Given the description of an element on the screen output the (x, y) to click on. 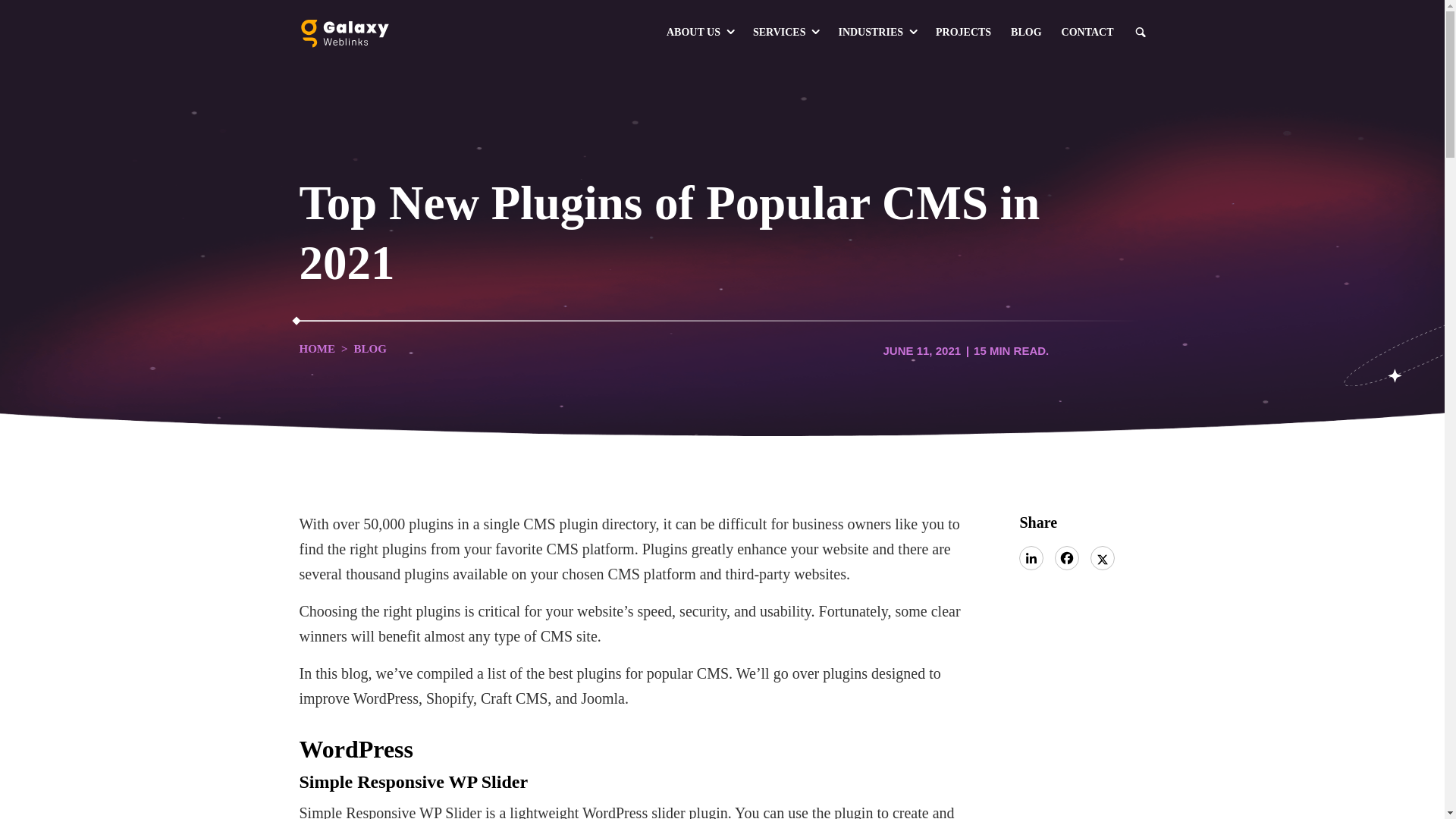
SERVICES (785, 33)
INDUSTRIES (877, 33)
Facebook (1066, 558)
search (1139, 32)
ABOUT US (699, 33)
BLOG (1026, 33)
X (1102, 558)
CONTACT (1087, 33)
PROJECTS (963, 33)
LinkedIn (1031, 558)
